Given the description of an element on the screen output the (x, y) to click on. 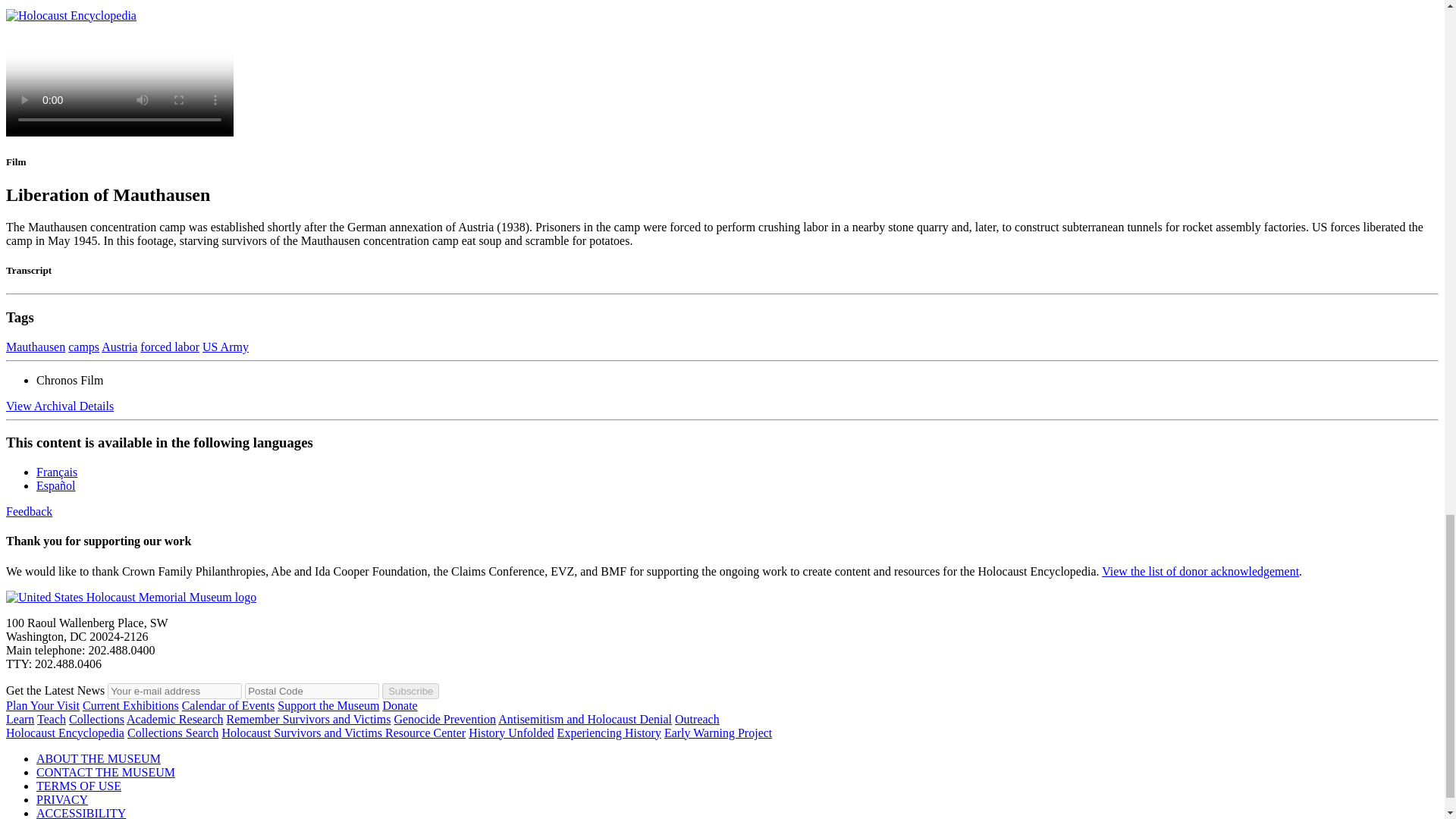
Subscribe (410, 691)
